Given the description of an element on the screen output the (x, y) to click on. 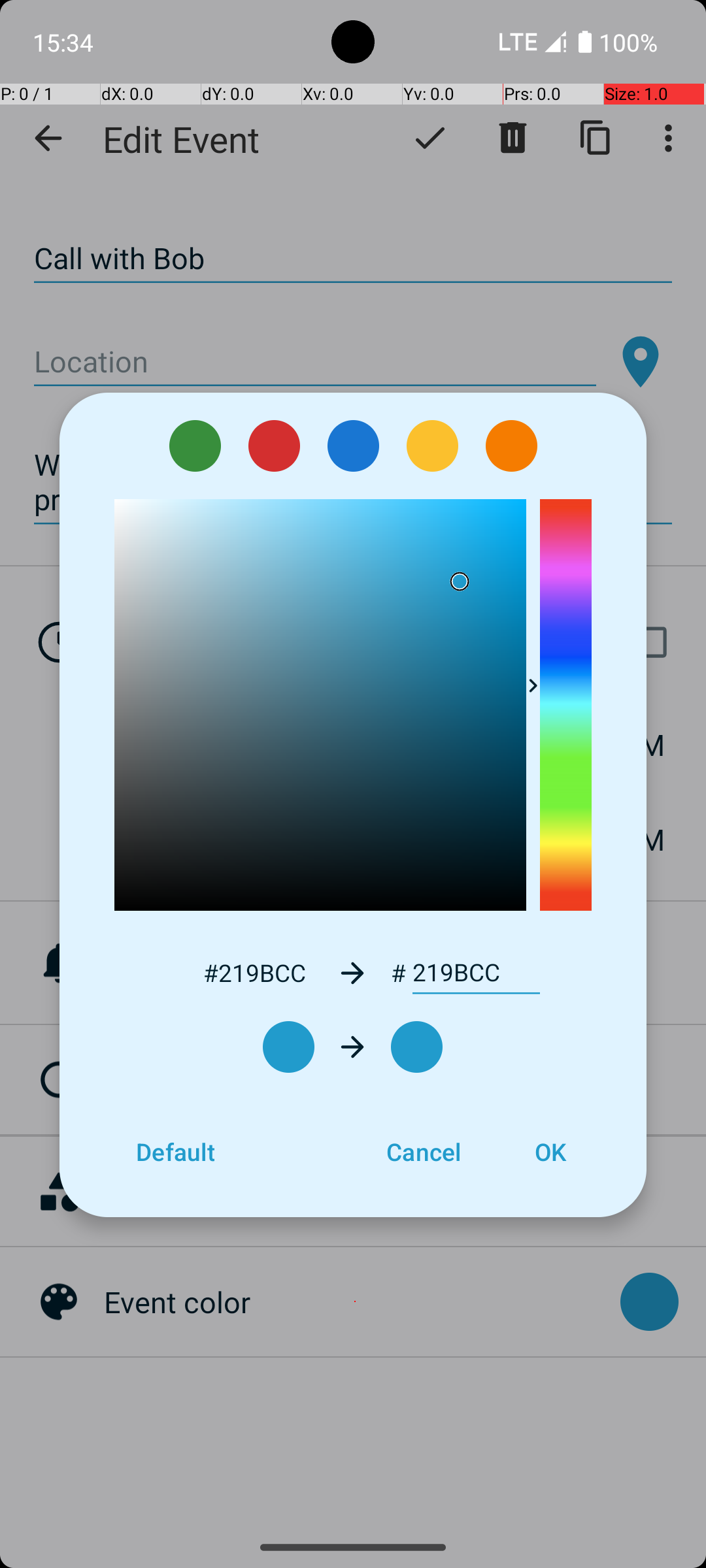
#219BCC Element type: android.widget.TextView (254, 972)
219BCC Element type: android.widget.EditText (475, 972)
